Given the description of an element on the screen output the (x, y) to click on. 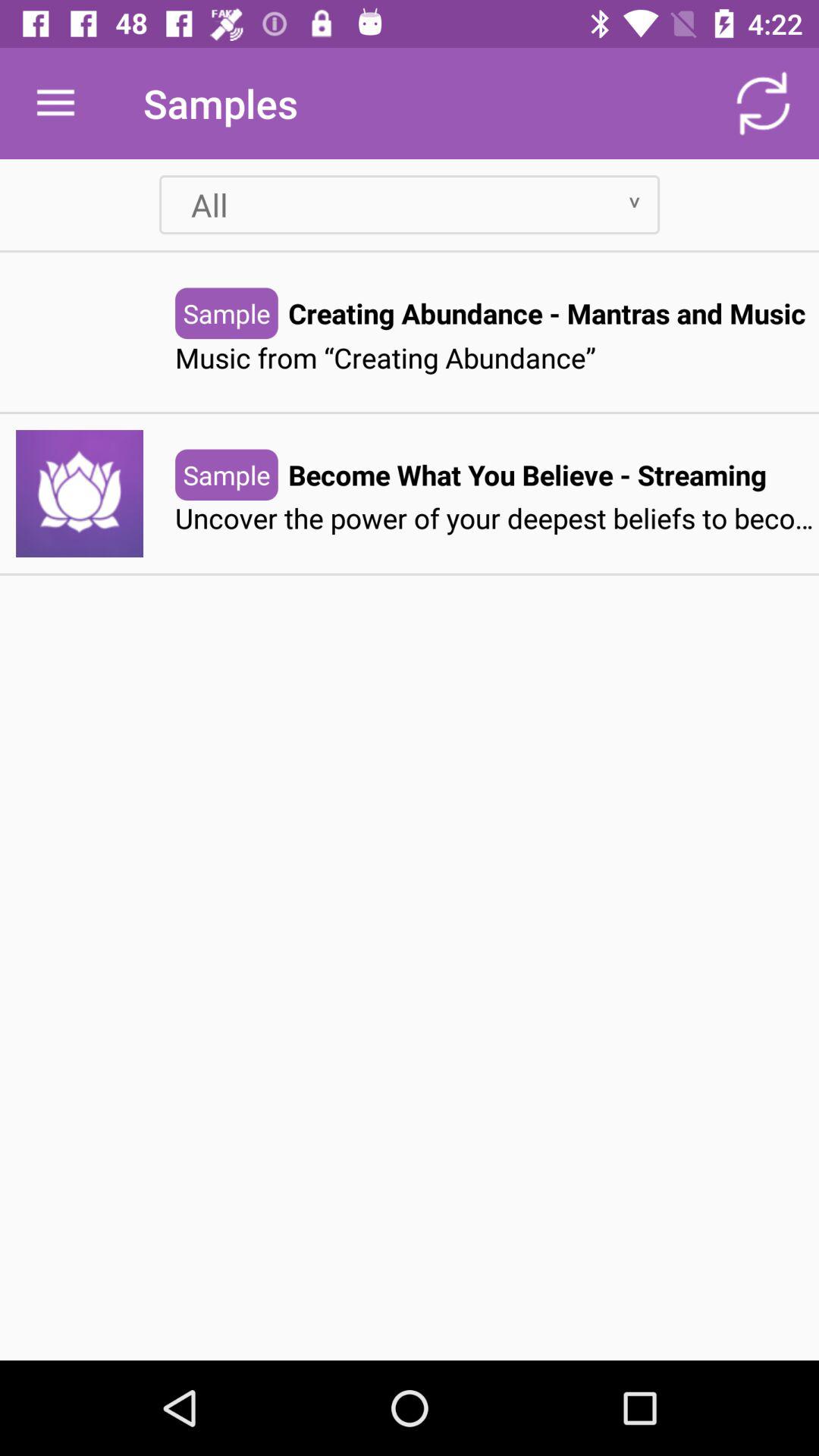
select the lotus icon (79, 493)
select the option all at the top of the screen (409, 204)
